Given the description of an element on the screen output the (x, y) to click on. 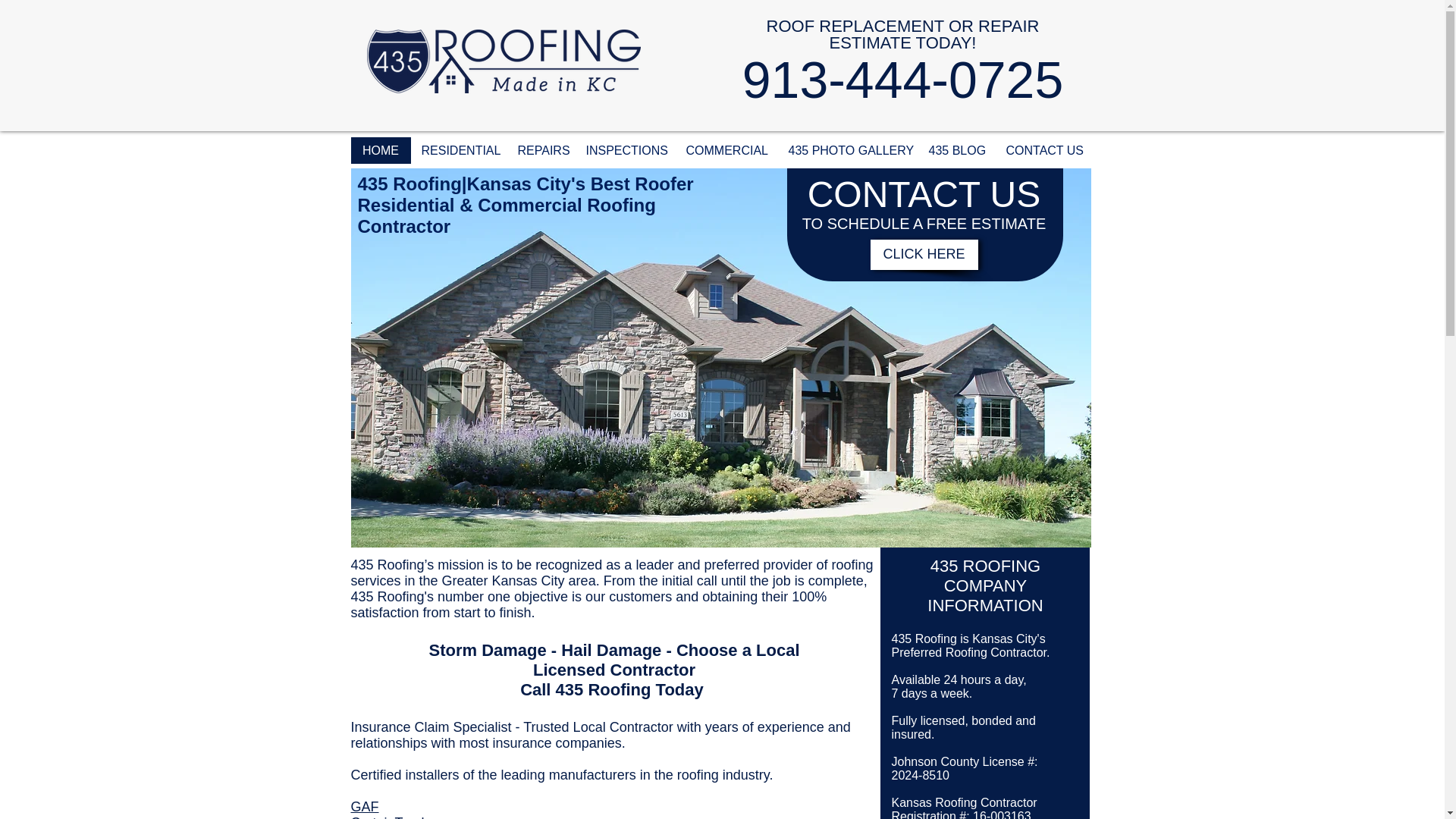
REPAIRS (540, 150)
Logo2.png (503, 61)
HOME (380, 150)
435 BLOG (955, 150)
CONTACT US (1043, 150)
GAF (364, 806)
CLICK HERE (924, 254)
RESIDENTIAL (458, 150)
435 PHOTO GALLERY (847, 150)
CertainTeed (386, 816)
INSPECTIONS (625, 150)
COMMERCIAL (726, 150)
